Given the description of an element on the screen output the (x, y) to click on. 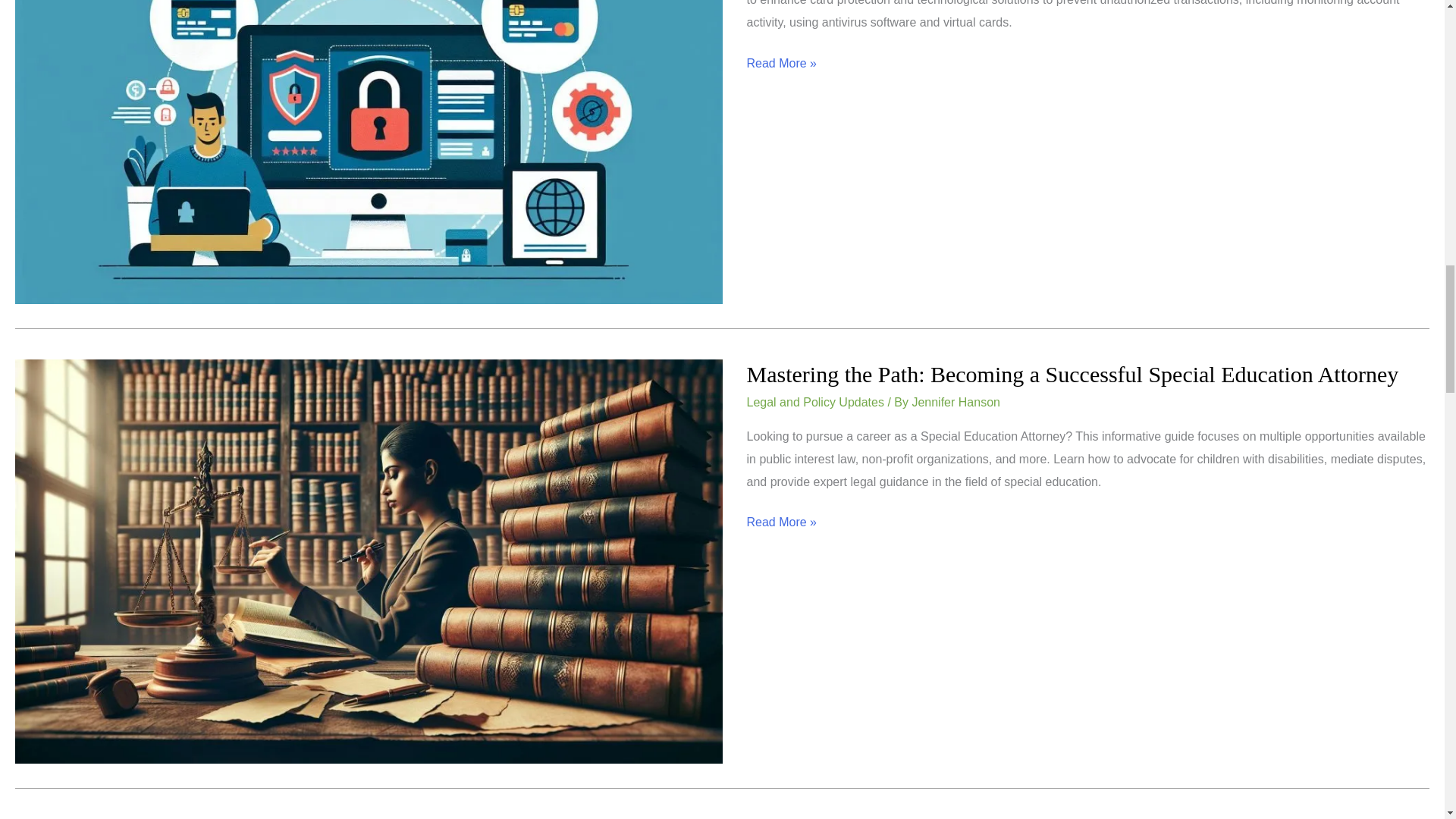
View all posts by Jennifer Hanson (955, 401)
